Given the description of an element on the screen output the (x, y) to click on. 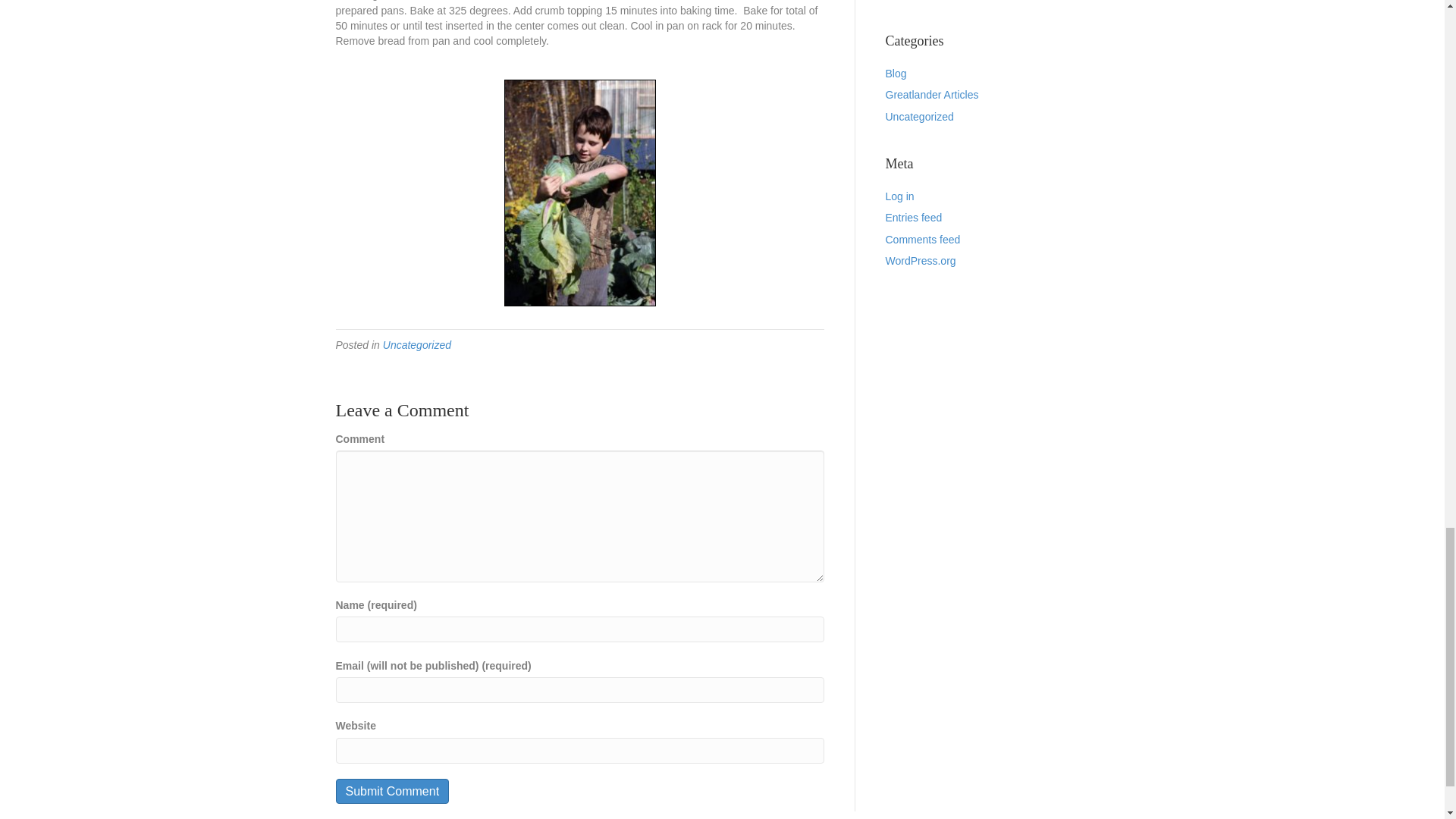
Submit Comment (391, 790)
Submit Comment (391, 790)
Uncategorized (416, 345)
